Given the description of an element on the screen output the (x, y) to click on. 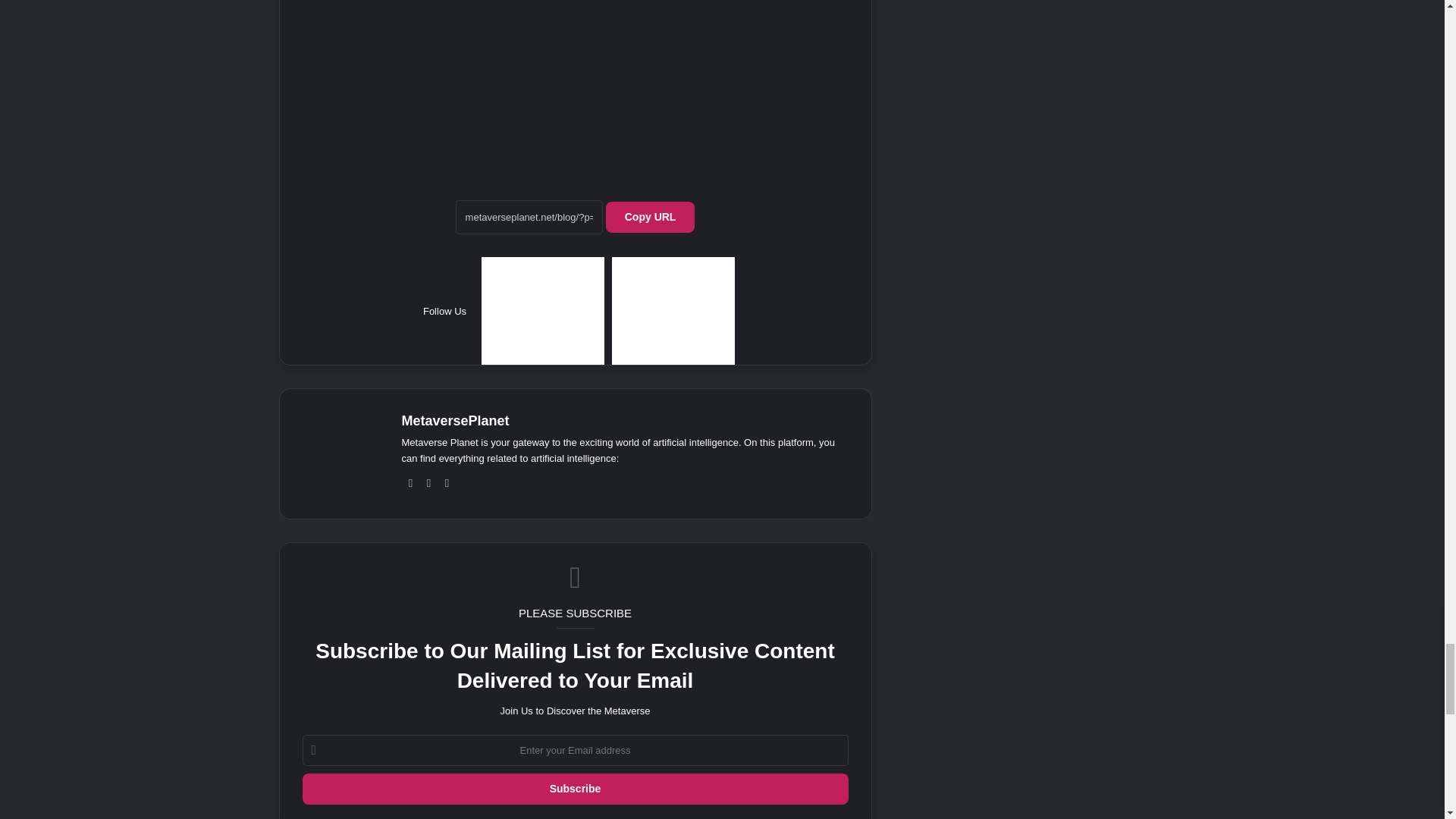
Subscribe (574, 788)
